Given the description of an element on the screen output the (x, y) to click on. 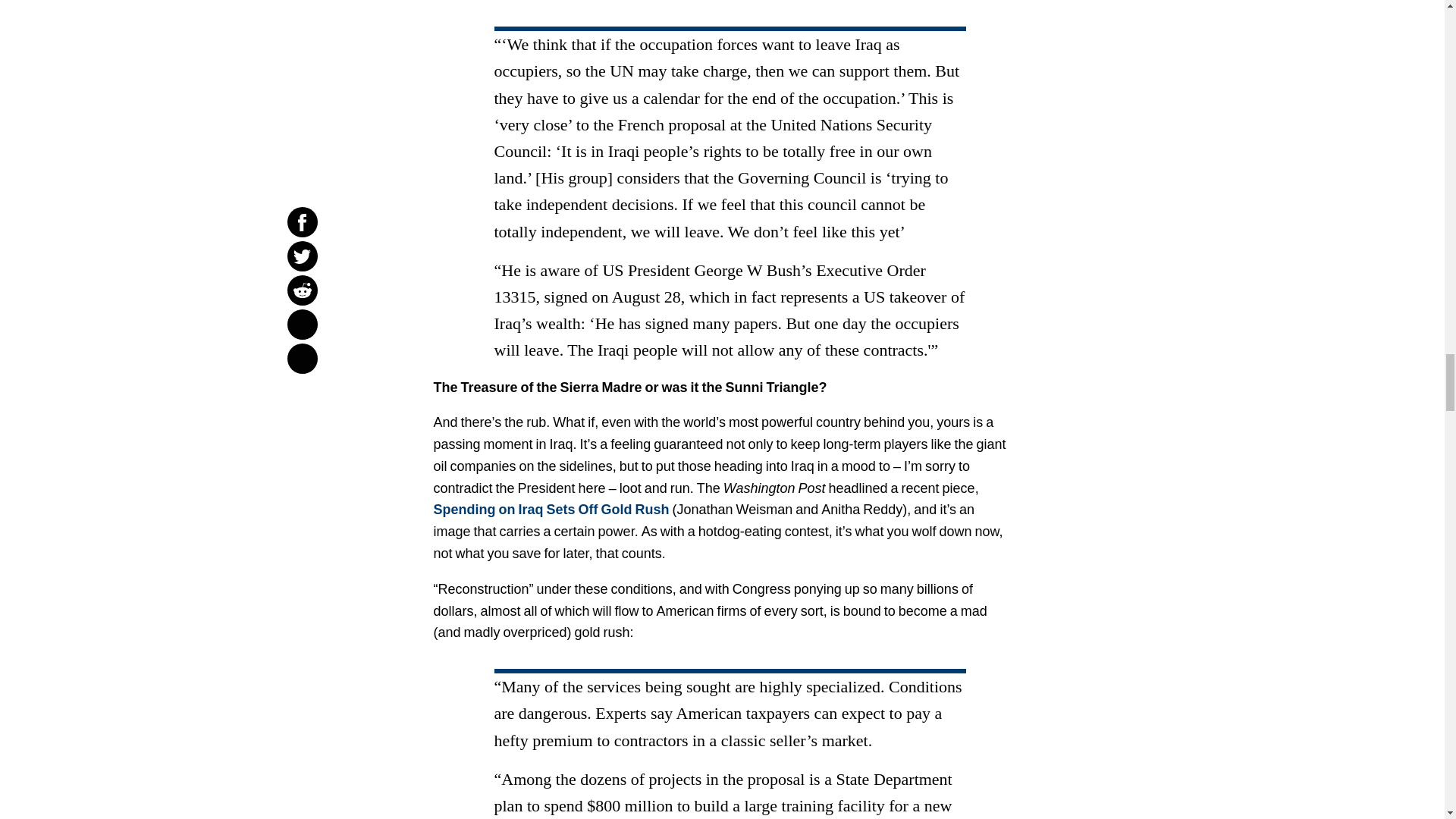
Spending on Iraq Sets Off Gold Rush (551, 509)
